Given the description of an element on the screen output the (x, y) to click on. 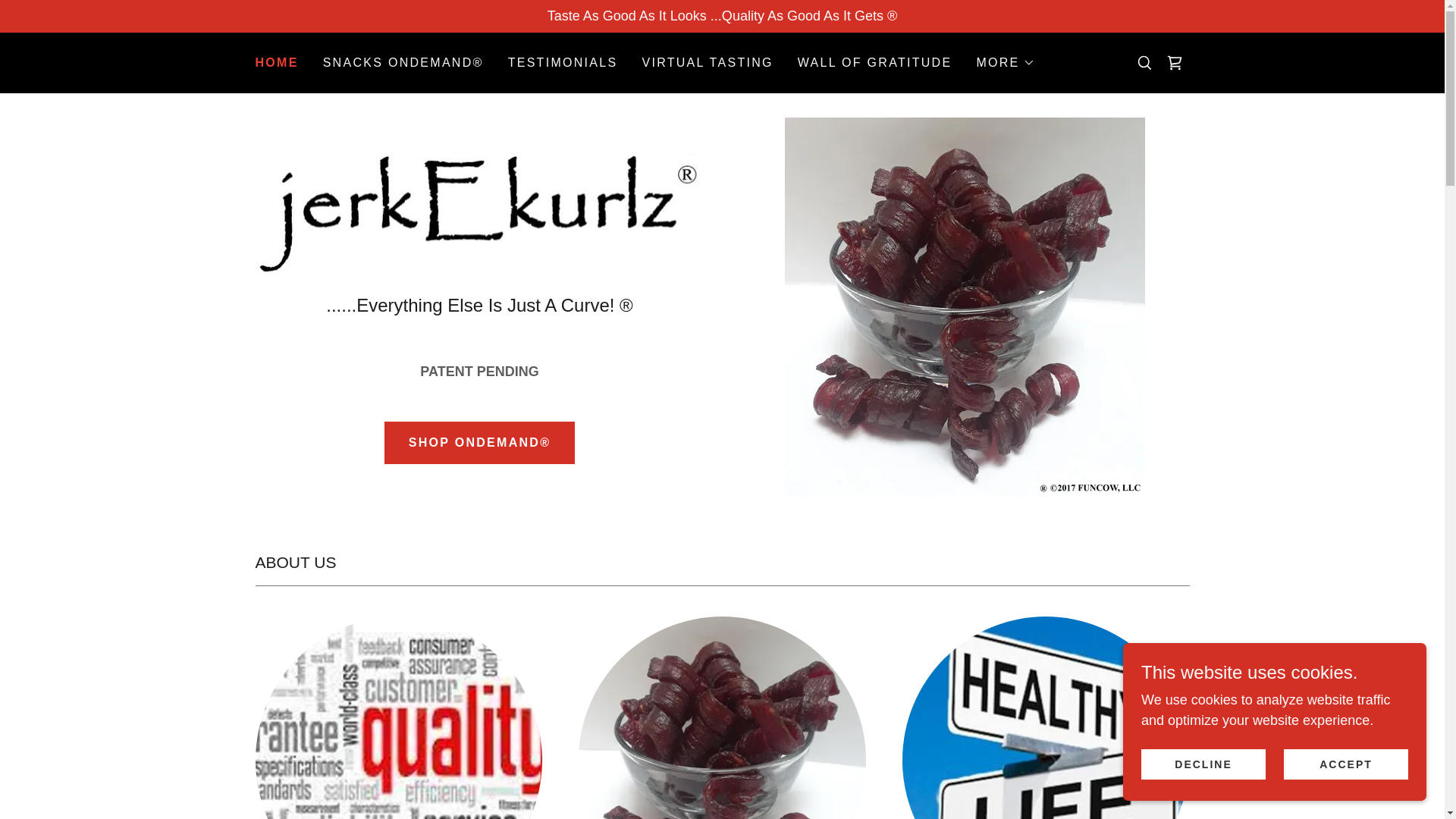
WALL OF GRATITUDE (874, 62)
VIRTUAL TASTING (707, 62)
HOME (276, 63)
jerkEkurlz (479, 218)
TESTIMONIALS (563, 62)
MORE (1004, 63)
